Given the description of an element on the screen output the (x, y) to click on. 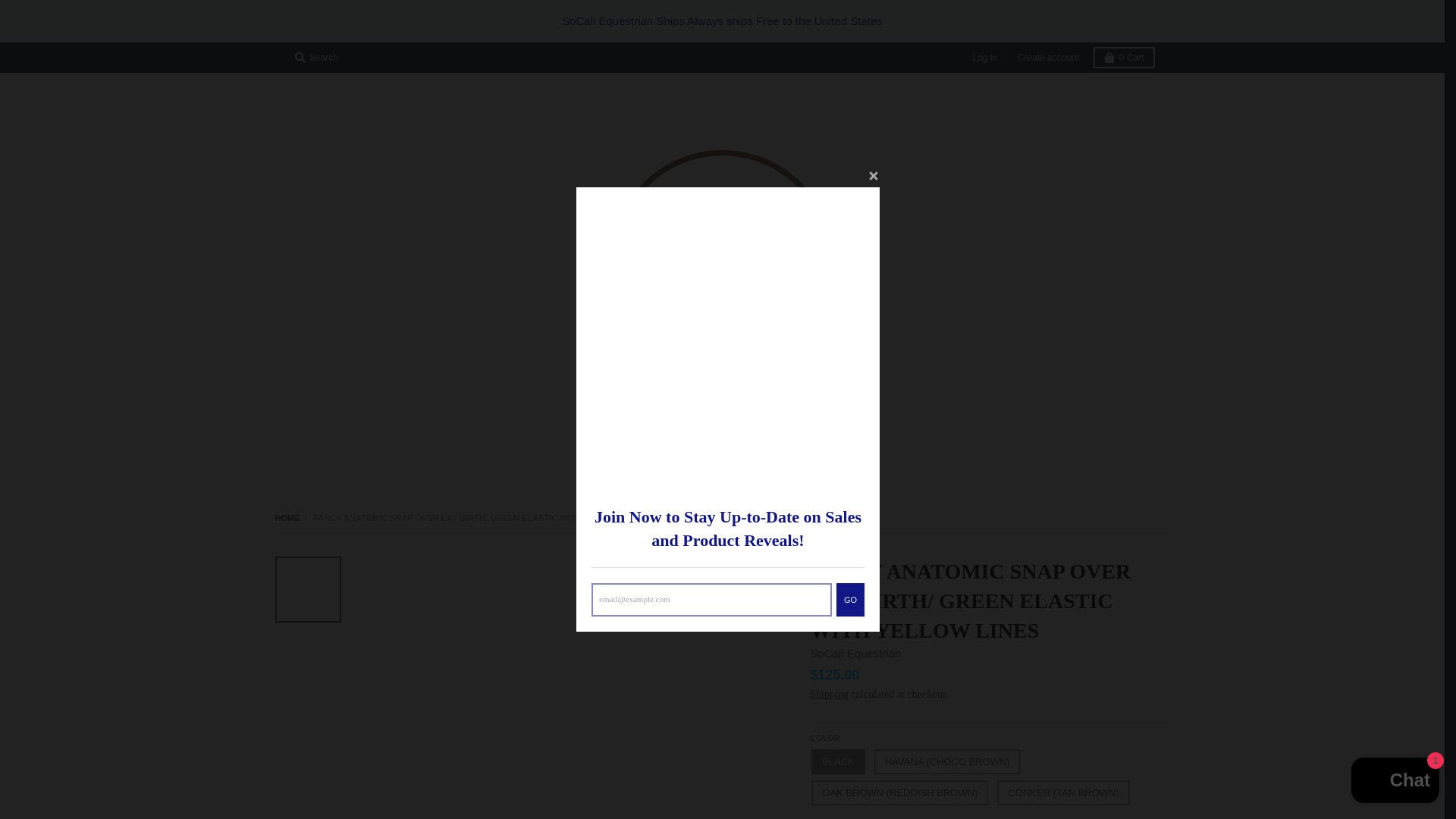
HOME (672, 450)
COLLECTIONS (748, 450)
SoCali Equestrian (855, 653)
Black (837, 761)
0 Cart (1123, 56)
Create account (1048, 57)
Shipping (828, 694)
HOME (287, 517)
Shopify online store chat (1395, 781)
SoCali Equestrian (855, 653)
Log in (985, 57)
Search (315, 56)
Back to the frontpage (287, 517)
